Given the description of an element on the screen output the (x, y) to click on. 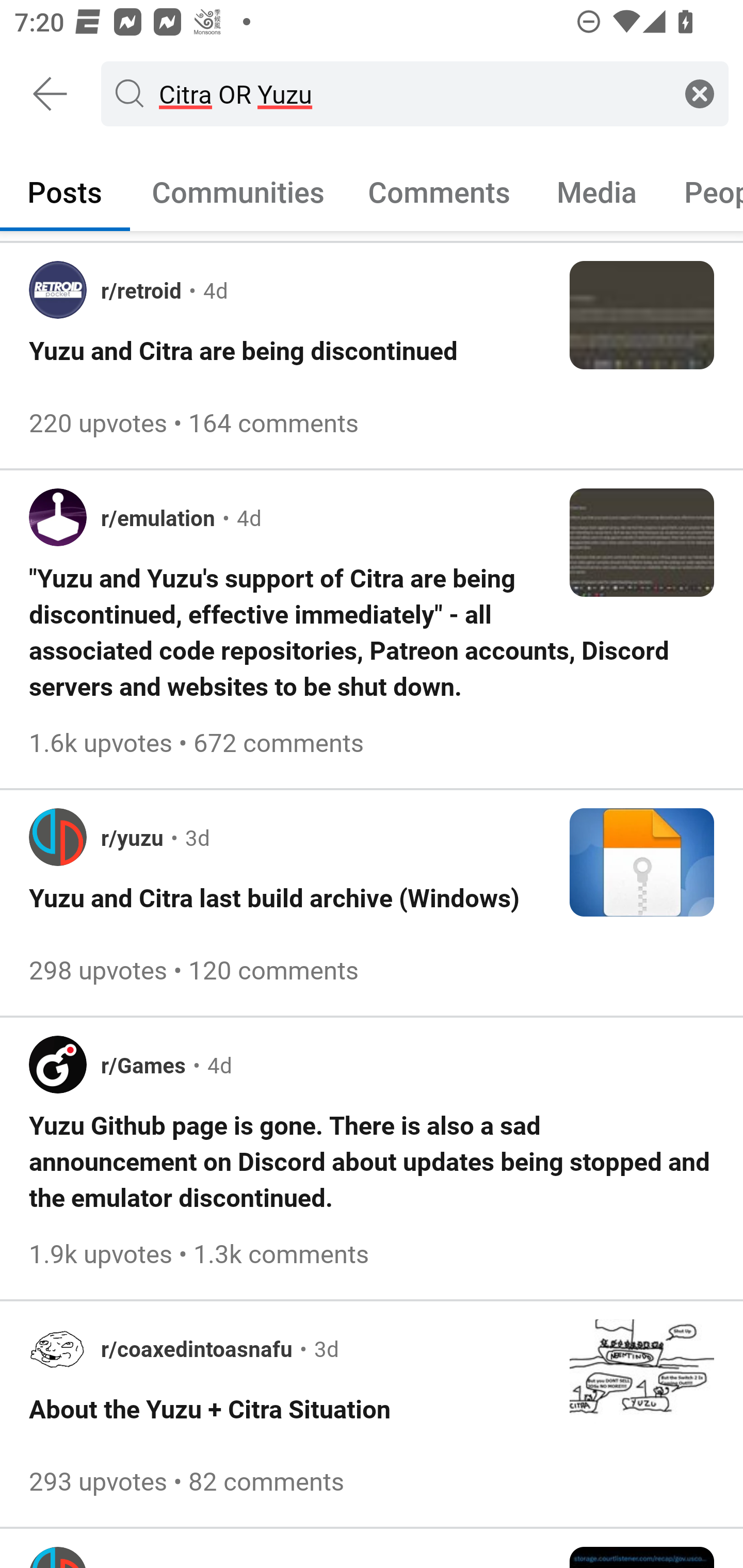
Back (50, 93)
Citra OR Yuzu (410, 93)
Clear search (699, 93)
Communities (238, 191)
Comments (438, 191)
Media (596, 191)
